Given the description of an element on the screen output the (x, y) to click on. 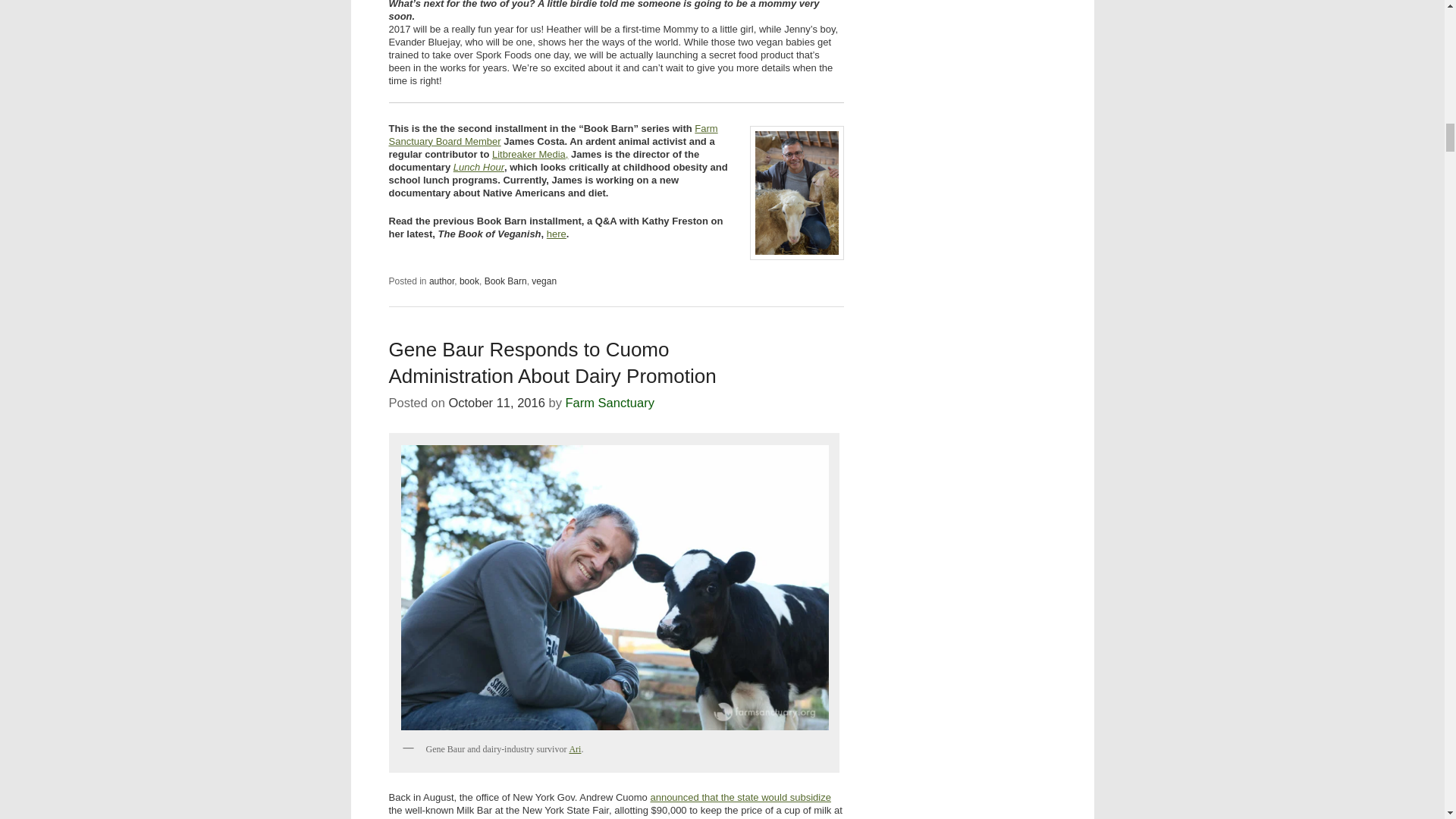
October 11, 2016 (496, 402)
Farm Sanctuary Board Member (552, 134)
Ari (574, 748)
View all posts by Farm Sanctuary (609, 402)
book (469, 281)
Lunch Hour (477, 165)
announced that the state would subsidize (740, 797)
Farm Sanctuary (609, 402)
Book Barn (505, 281)
vegan (543, 281)
author (441, 281)
here (556, 233)
9:59 pm (496, 402)
